Given the description of an element on the screen output the (x, y) to click on. 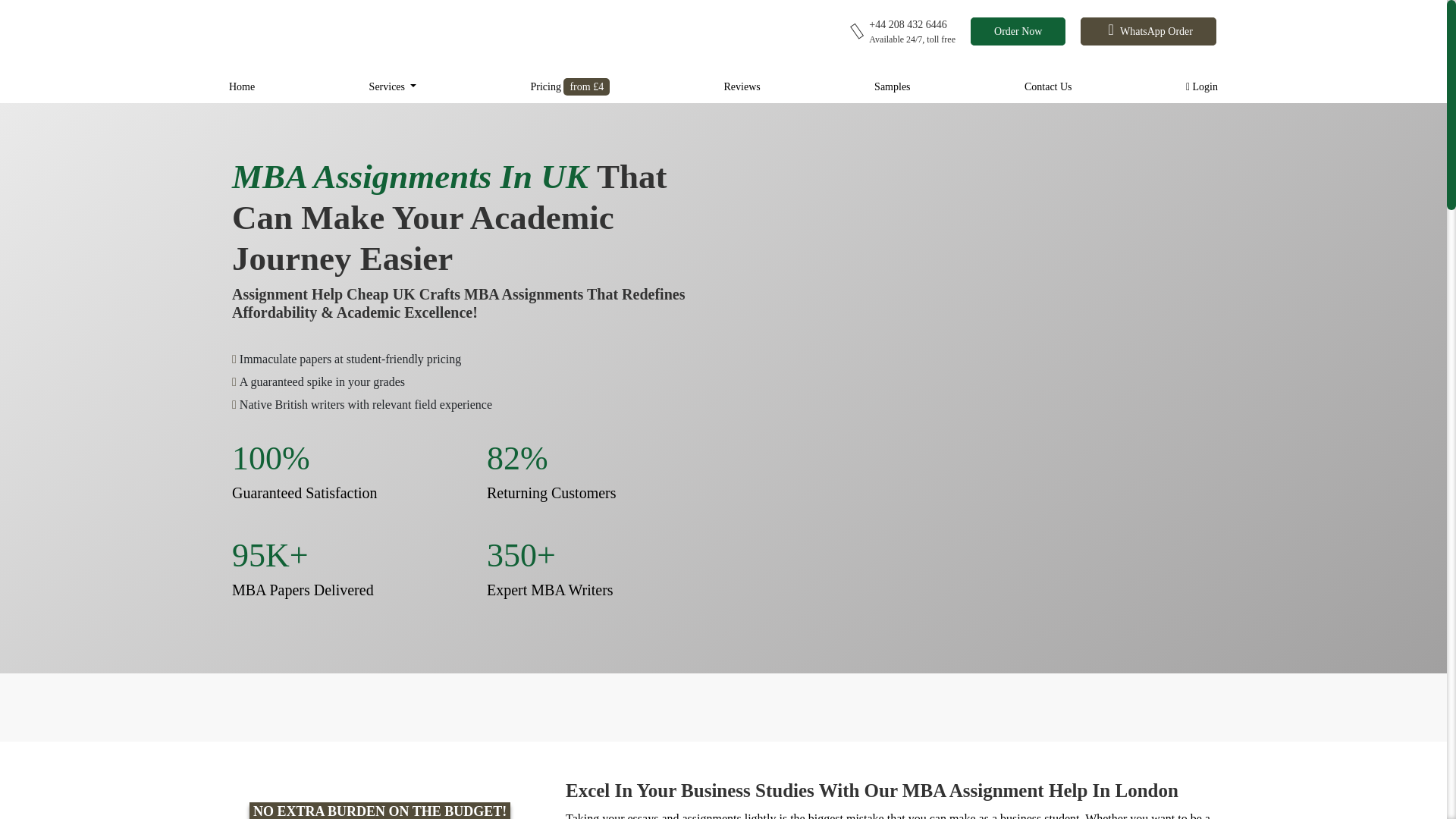
Reviews (742, 87)
Login (1201, 87)
Samples (891, 87)
WhatsApp Order (1147, 31)
Contact Us (1047, 87)
Order Now (1018, 31)
Home (241, 87)
